Given the description of an element on the screen output the (x, y) to click on. 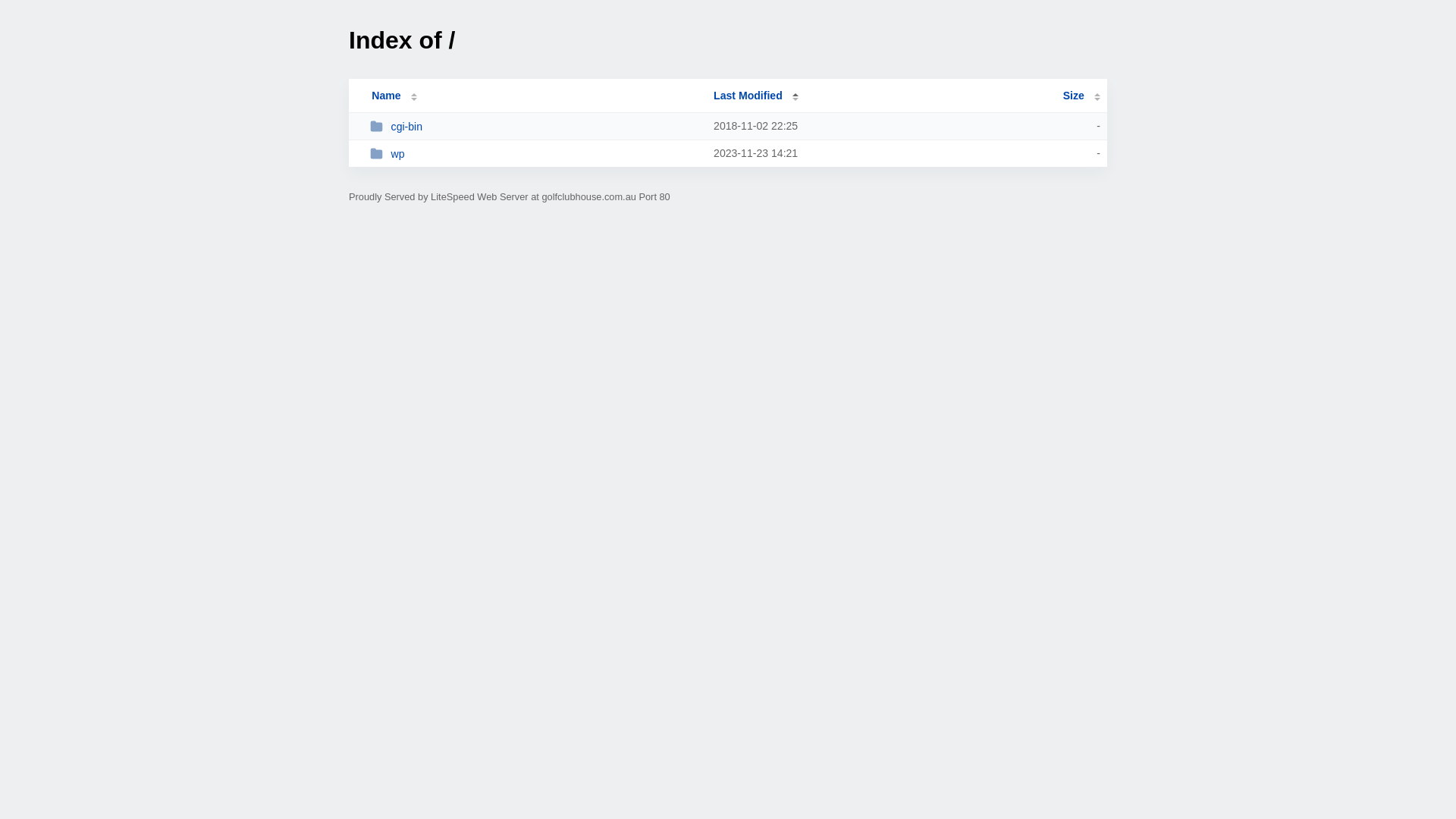
Name Element type: text (385, 95)
Last Modified Element type: text (755, 95)
Size Element type: text (1081, 95)
cgi-bin Element type: text (534, 125)
wp Element type: text (534, 153)
